Given the description of an element on the screen output the (x, y) to click on. 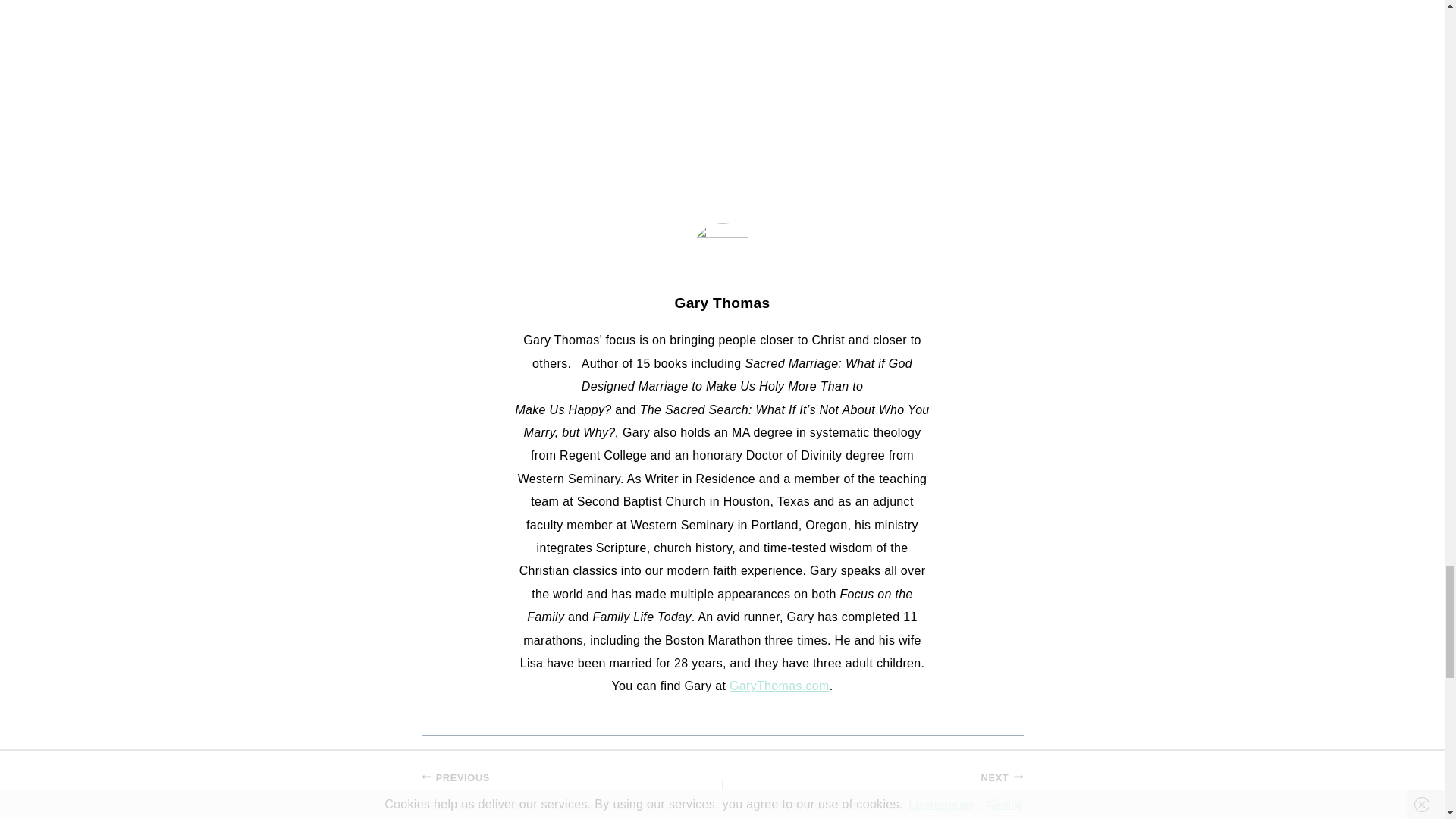
Posts by Gary Thomas (722, 302)
